Given the description of an element on the screen output the (x, y) to click on. 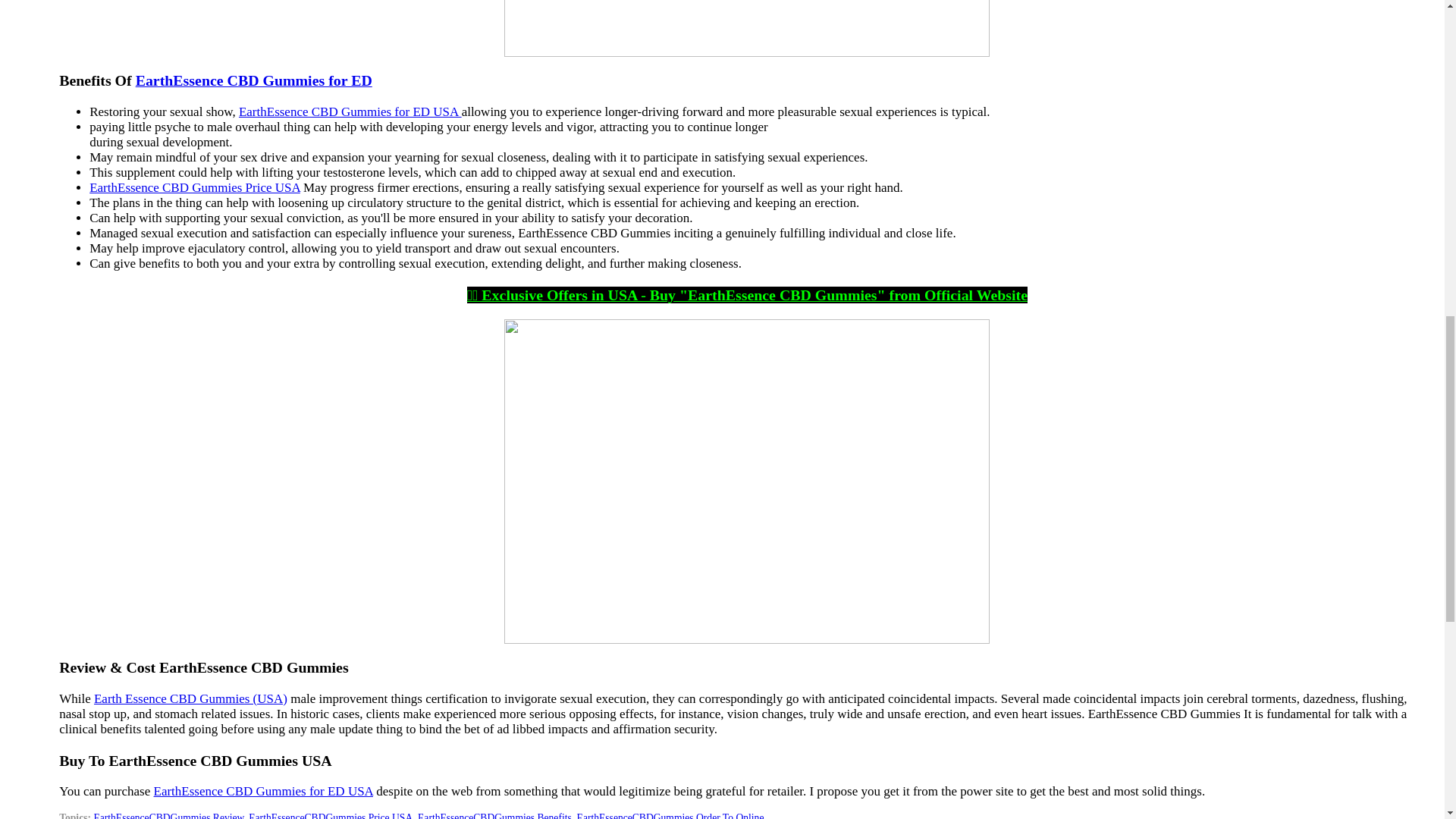
EarthEssenceCBDGummies Benefits (494, 815)
EarthEssenceCBDGummies Order To Online (670, 815)
EarthEssenceCBDGummies Price USA (330, 815)
EarthEssenceCBDGummies Review (168, 815)
EarthEssence CBD Gummies for ED (253, 80)
EarthEssence CBD Gummies Price USA (193, 187)
EarthEssence CBD Gummies for ED USA (263, 790)
EarthEssence CBD Gummies for ED USA  (349, 111)
